Given the description of an element on the screen output the (x, y) to click on. 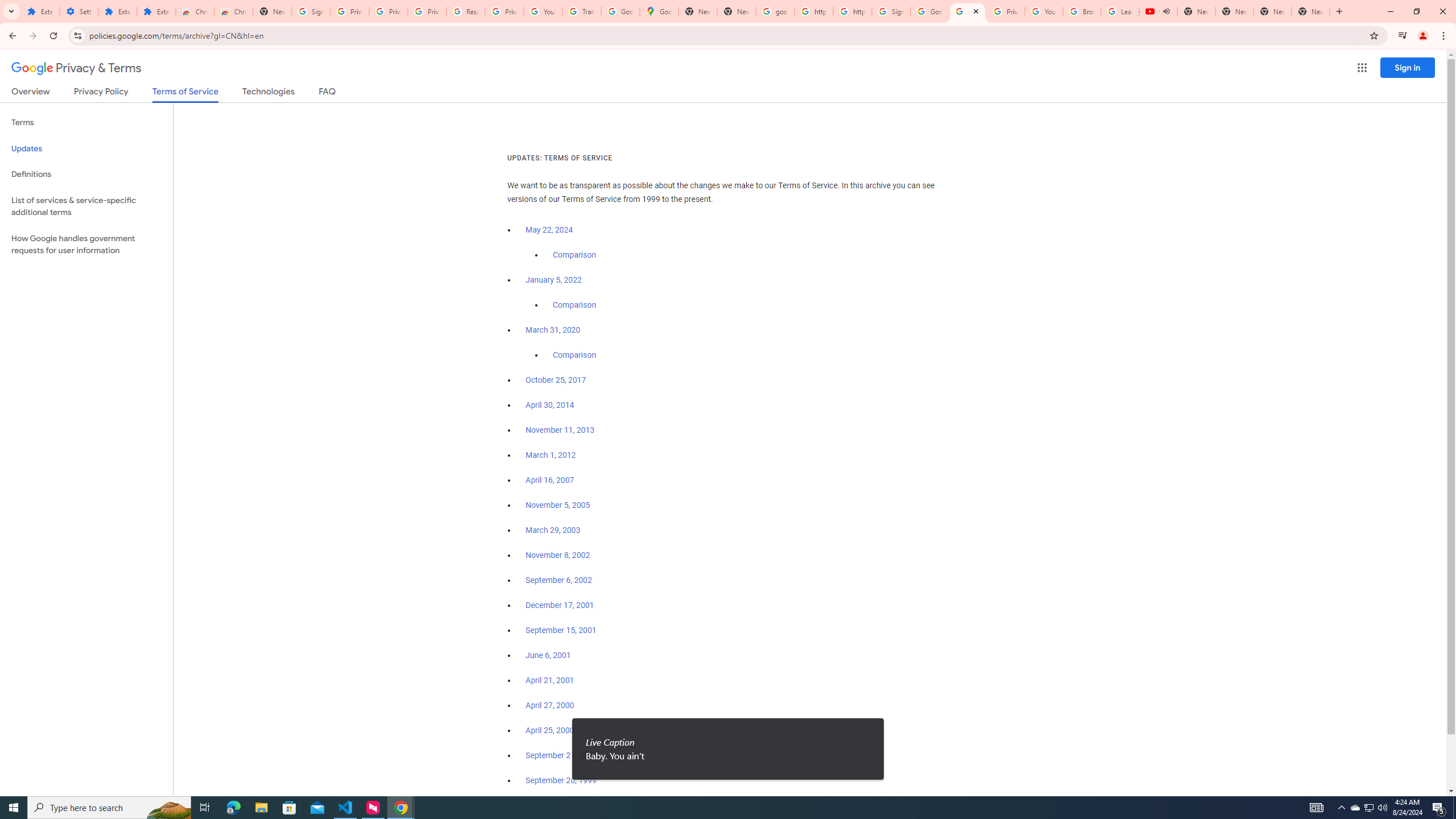
September 21, 1999 (560, 755)
November 5, 2005 (557, 505)
https://scholar.google.com/ (852, 11)
November 11, 2013 (560, 430)
October 25, 2017 (555, 380)
January 5, 2022 (553, 280)
